Given the description of an element on the screen output the (x, y) to click on. 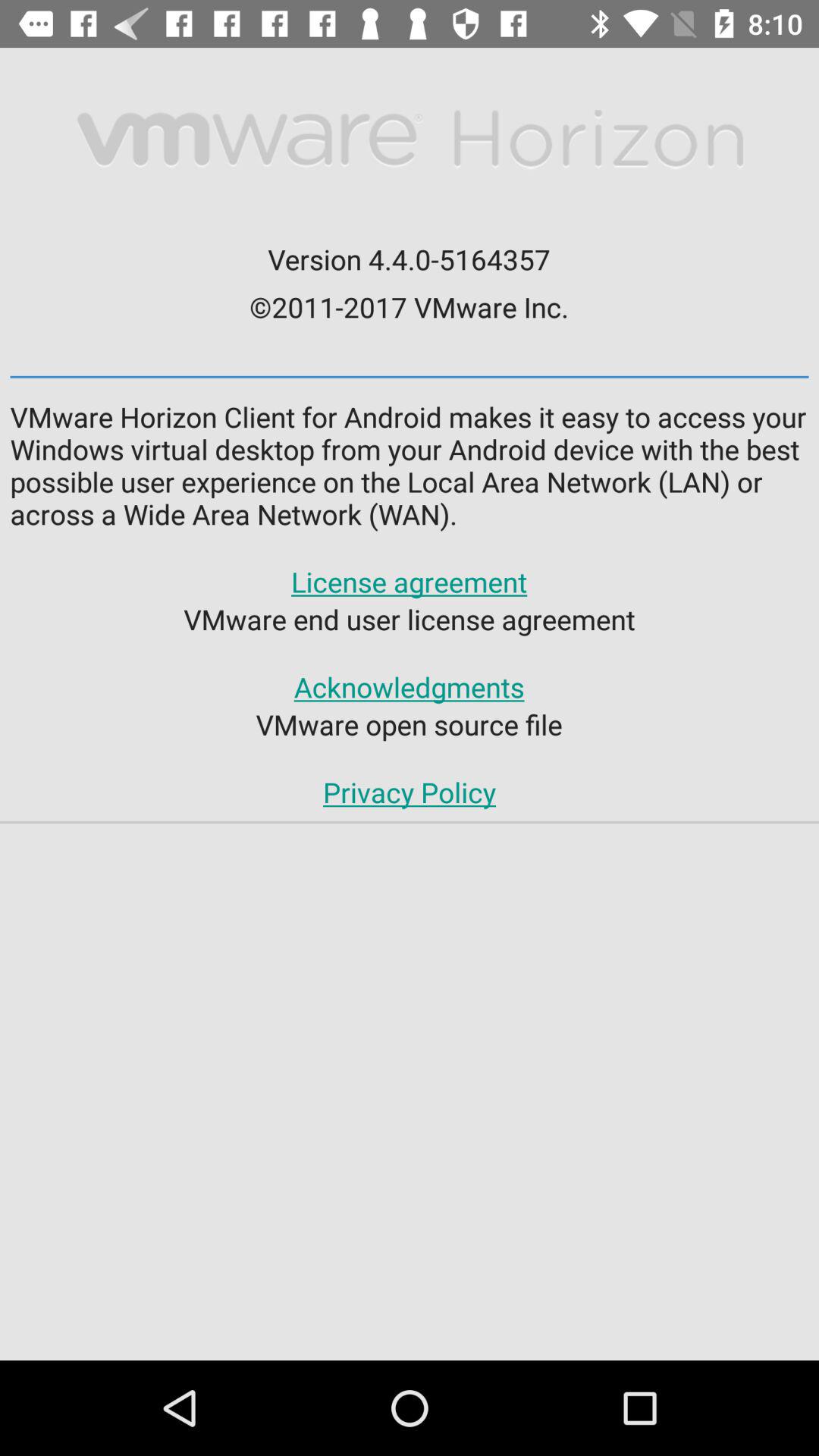
turn on the item above the privacy policy app (408, 724)
